Given the description of an element on the screen output the (x, y) to click on. 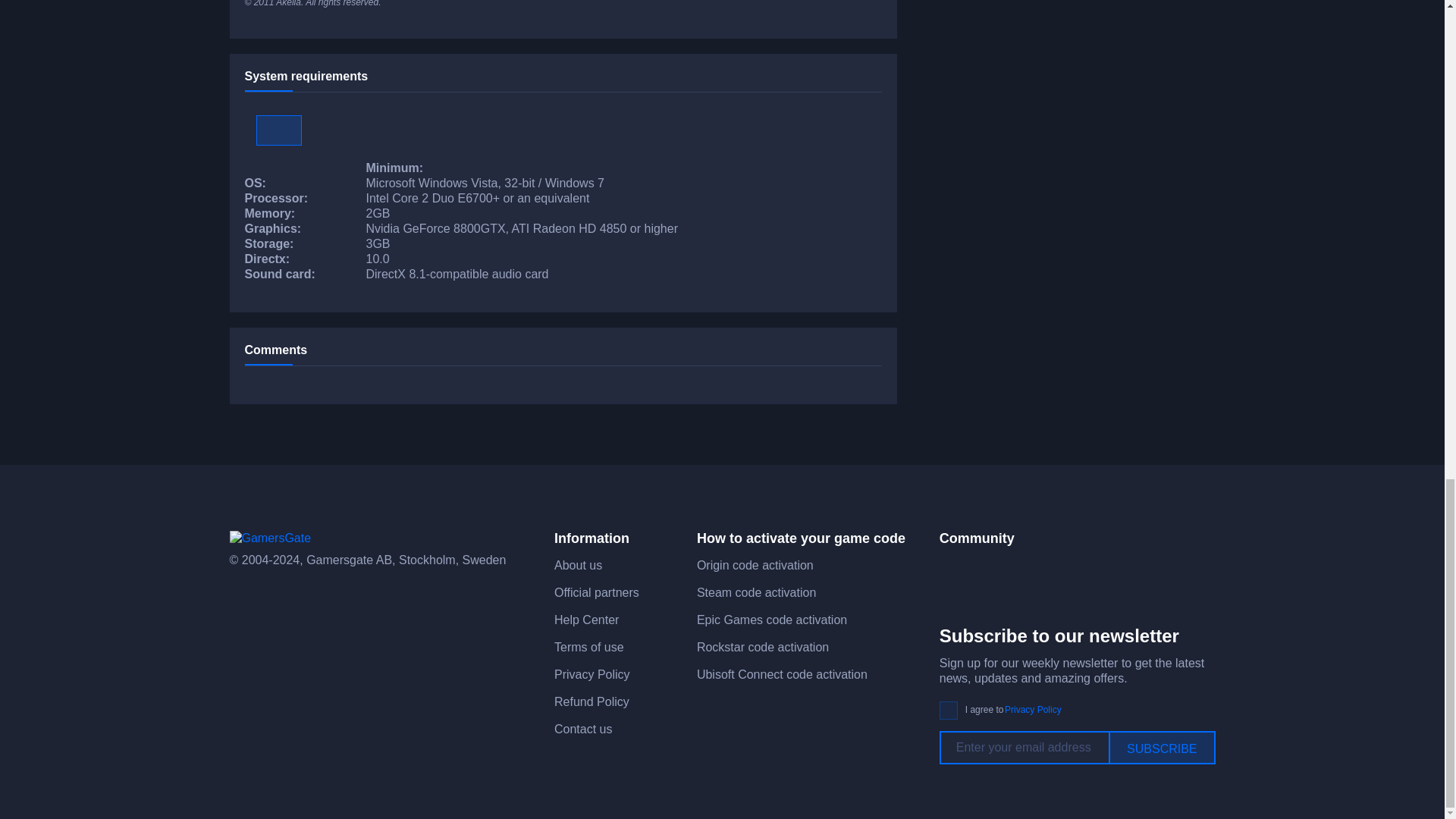
Official partners (596, 592)
Help Center (586, 619)
Terms of use (589, 646)
Subscribe (1161, 747)
Privacy Policy (592, 674)
Steam code activation (756, 592)
Refund Policy (591, 701)
About us (578, 564)
Origin code activation (755, 564)
Contact us (582, 728)
